Given the description of an element on the screen output the (x, y) to click on. 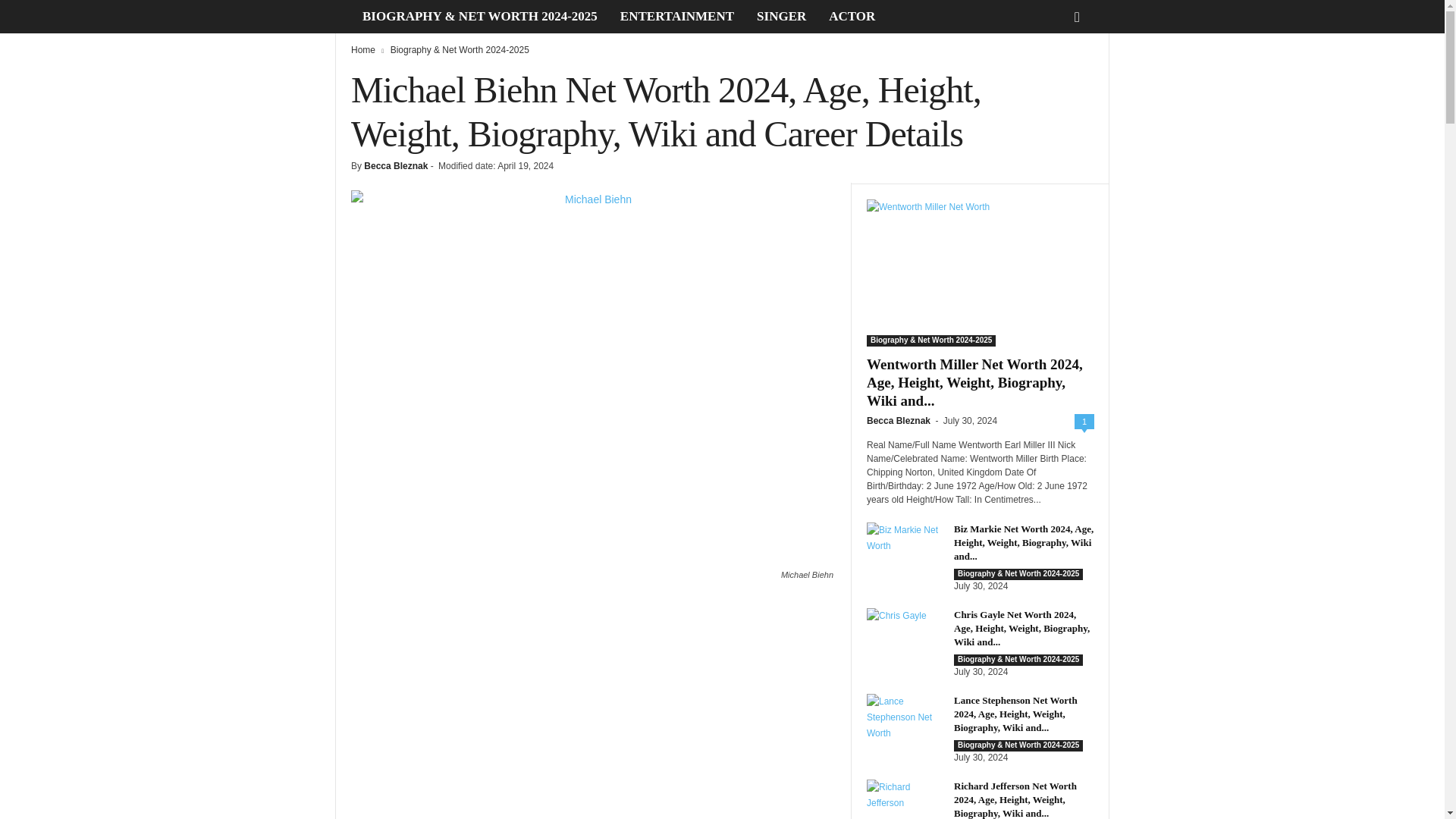
SINGER (780, 16)
MD Daily Record (342, 16)
ACTOR (851, 16)
Home (362, 50)
Becca Bleznak (396, 165)
ENTERTAINMENT (676, 16)
